Given the description of an element on the screen output the (x, y) to click on. 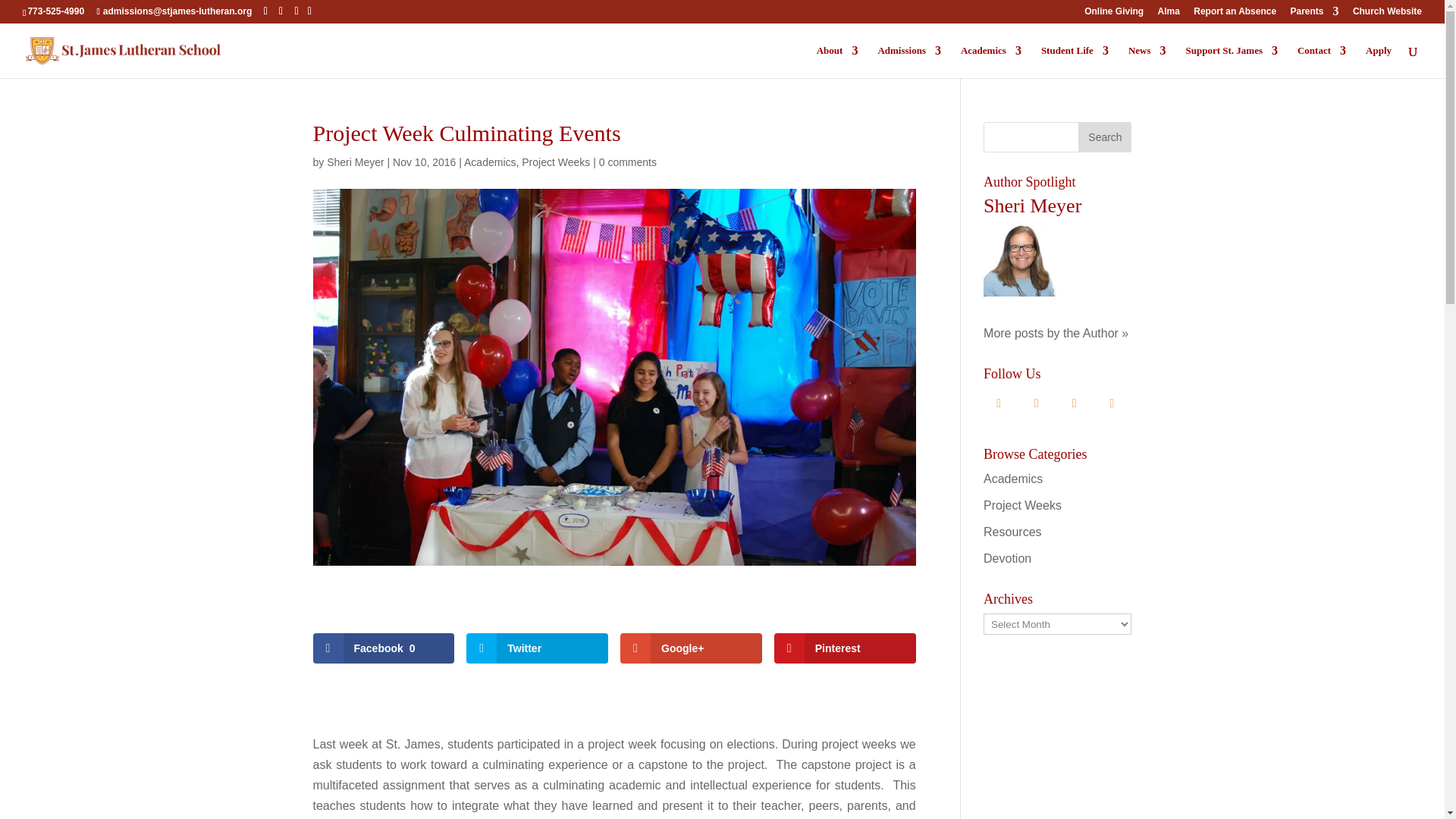
Posts by Sheri Meyer (355, 162)
About (837, 61)
Online Giving (1113, 14)
Admissions (908, 61)
Student Life (1074, 61)
Report an Absence (1234, 14)
Church Website (1387, 14)
Parents (1314, 14)
Academics (991, 61)
Search (1104, 137)
More articles by this author (1056, 332)
Alma (1168, 14)
